Given the description of an element on the screen output the (x, y) to click on. 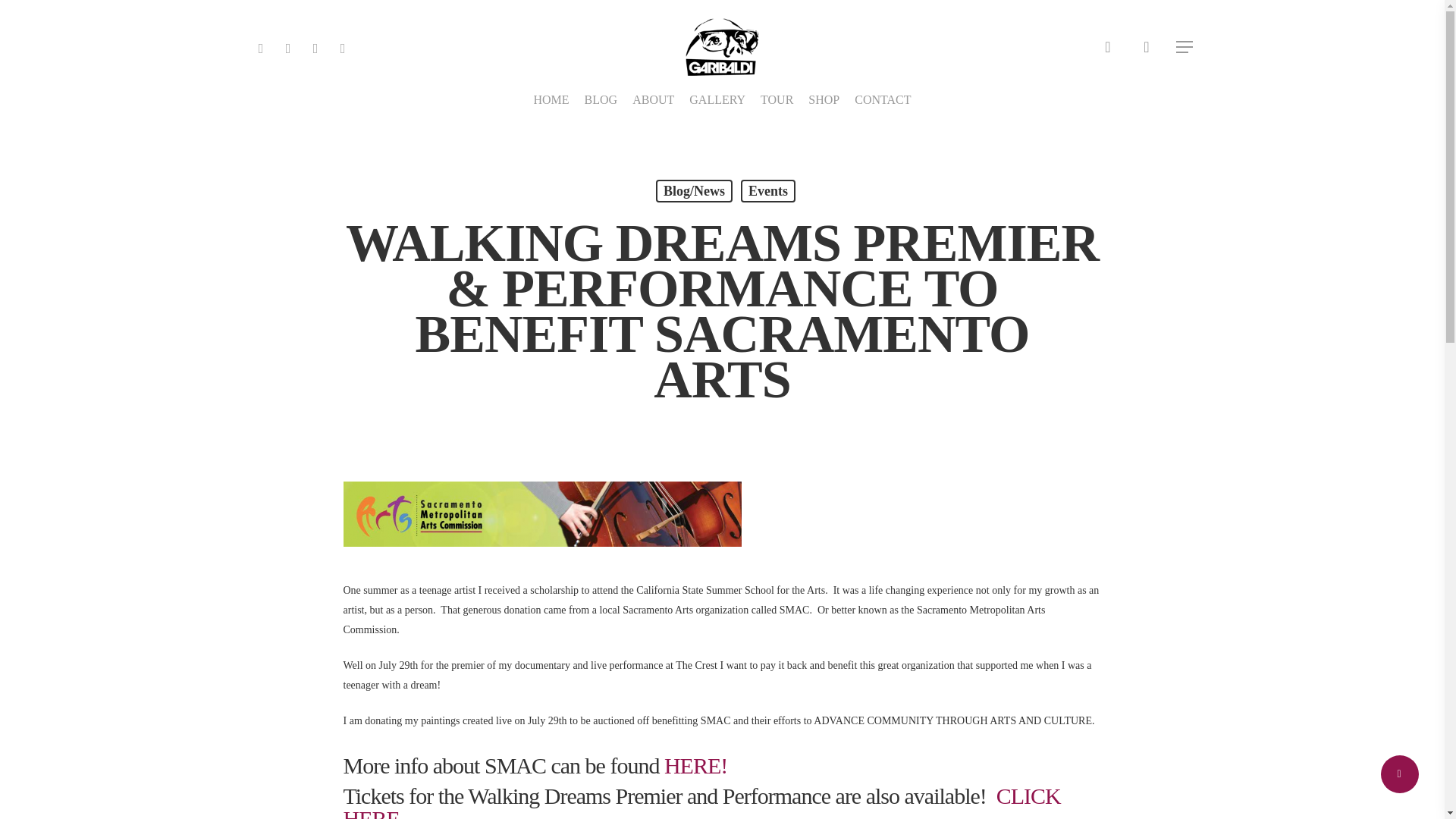
CLICK HERE (700, 800)
SHOP (824, 100)
CONTACT (882, 100)
HERE! (694, 765)
Menu (1184, 47)
BLOG (601, 100)
YOUTUBE (315, 46)
FACEBOOK (288, 46)
Sac Metro Arts (541, 514)
search (1107, 47)
ABOUT (652, 100)
HOME (550, 100)
INSTAGRAM (342, 46)
TOUR (776, 100)
Events (767, 190)
